Given the description of an element on the screen output the (x, y) to click on. 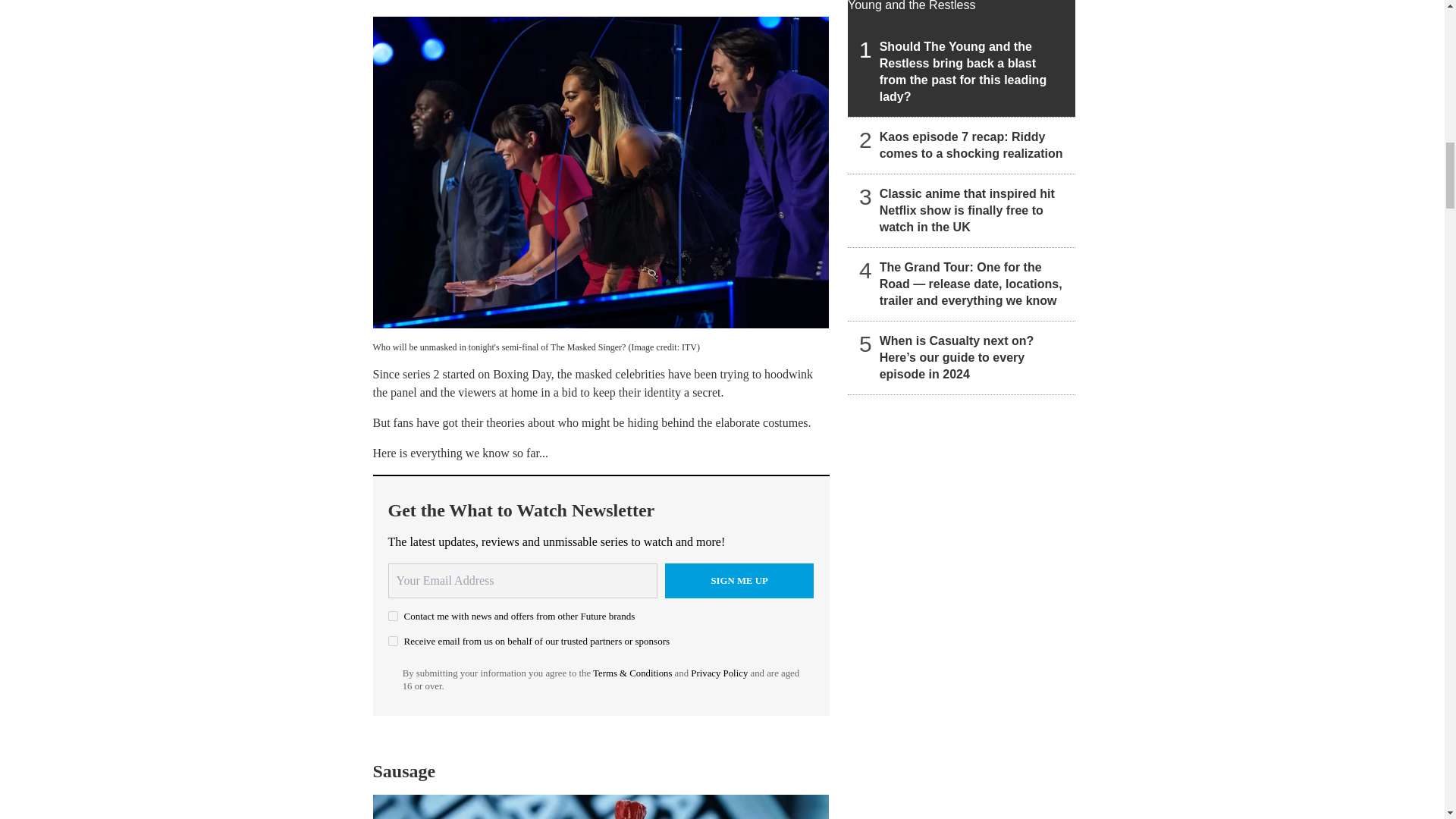
on (392, 615)
Sign me up (739, 580)
on (392, 641)
